Given the description of an element on the screen output the (x, y) to click on. 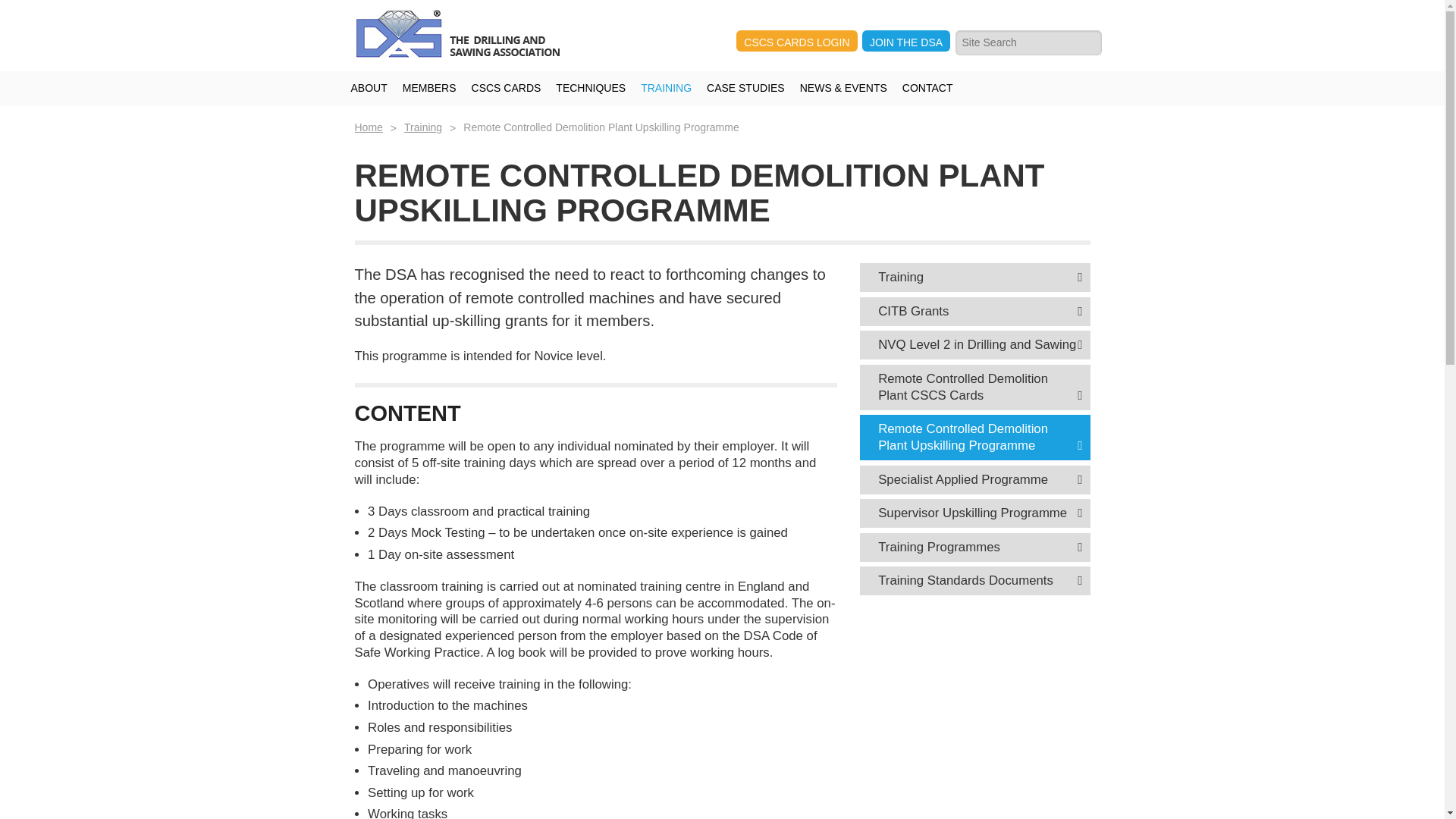
TRAINING (665, 88)
CONTACT (927, 88)
Remote Controlled Demolition Plant Upskilling Programme (974, 437)
MEMBERS (429, 88)
Training Programmes (974, 547)
Training Standards Documents (974, 580)
Remote Controlled Demolition Plant CSCS Cards (974, 387)
Specialist Applied Programme (974, 480)
ABOUT (368, 88)
Supervisor Upskilling Programme (974, 512)
CASE STUDIES (745, 88)
CITB Grants (974, 311)
JOIN THE DSA (905, 40)
Home (368, 127)
CSCS CARDS LOGIN (796, 40)
